Given the description of an element on the screen output the (x, y) to click on. 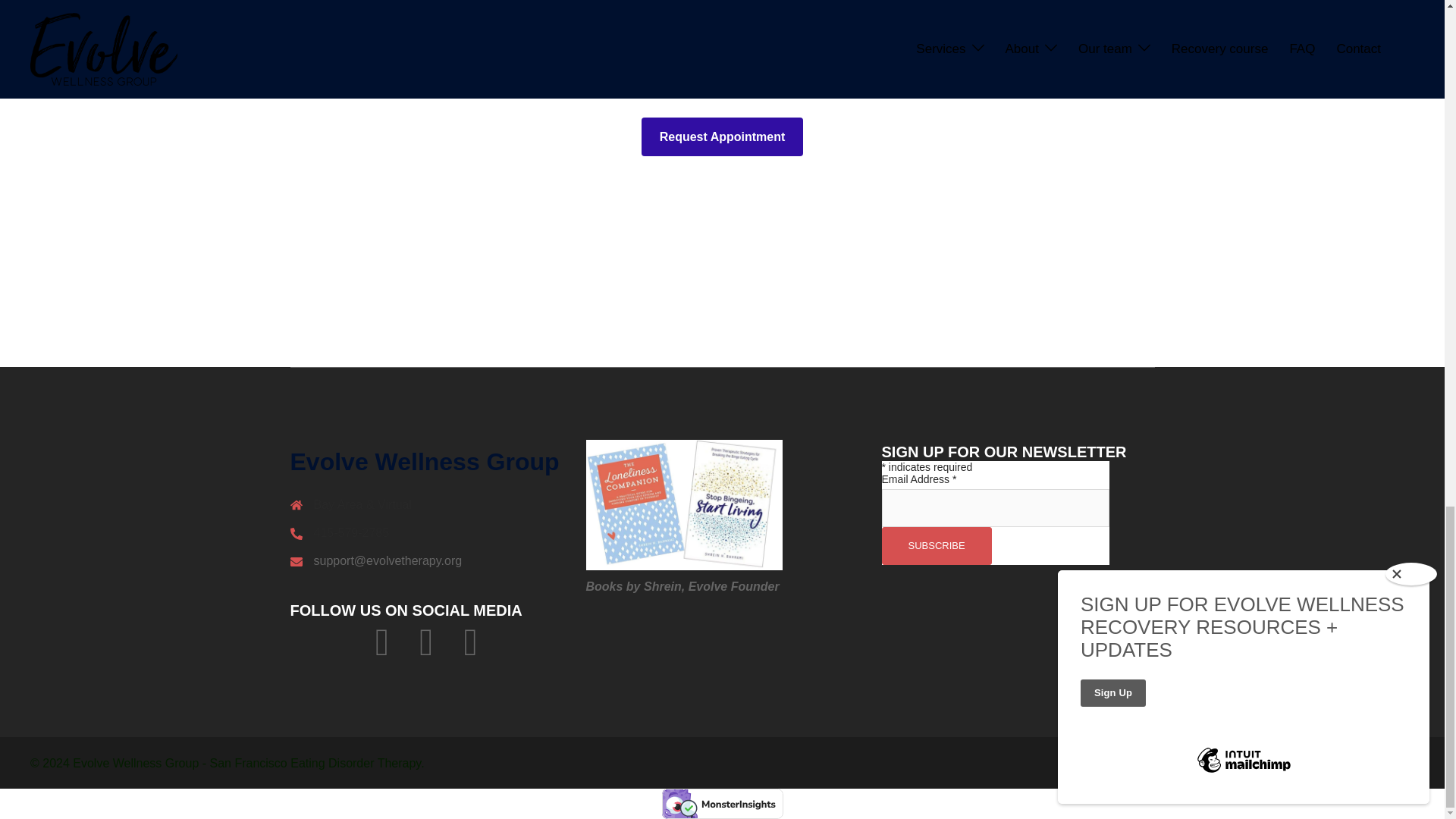
Subscribe (935, 546)
